Given the description of an element on the screen output the (x, y) to click on. 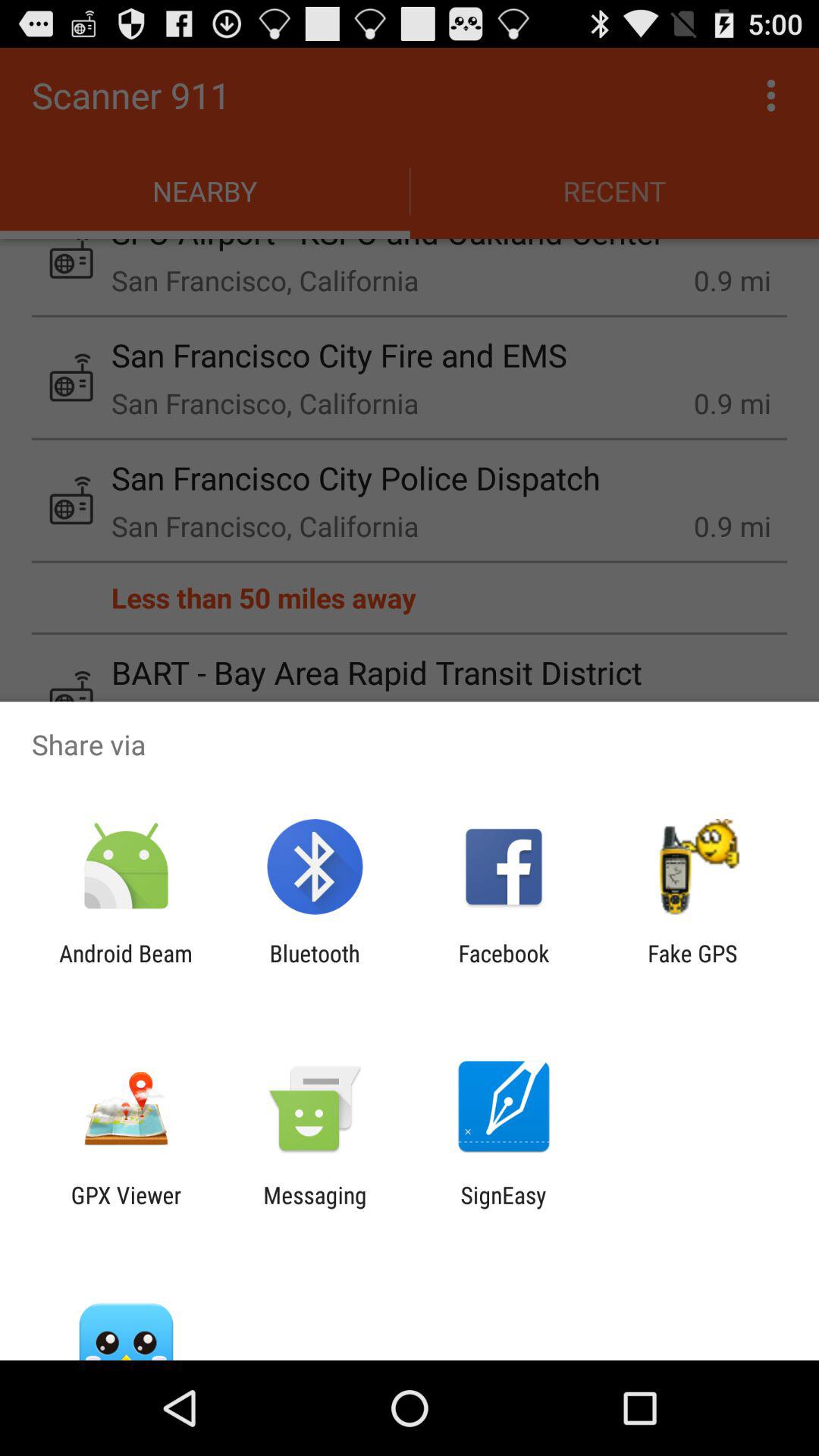
press the gpx viewer app (126, 1208)
